Given the description of an element on the screen output the (x, y) to click on. 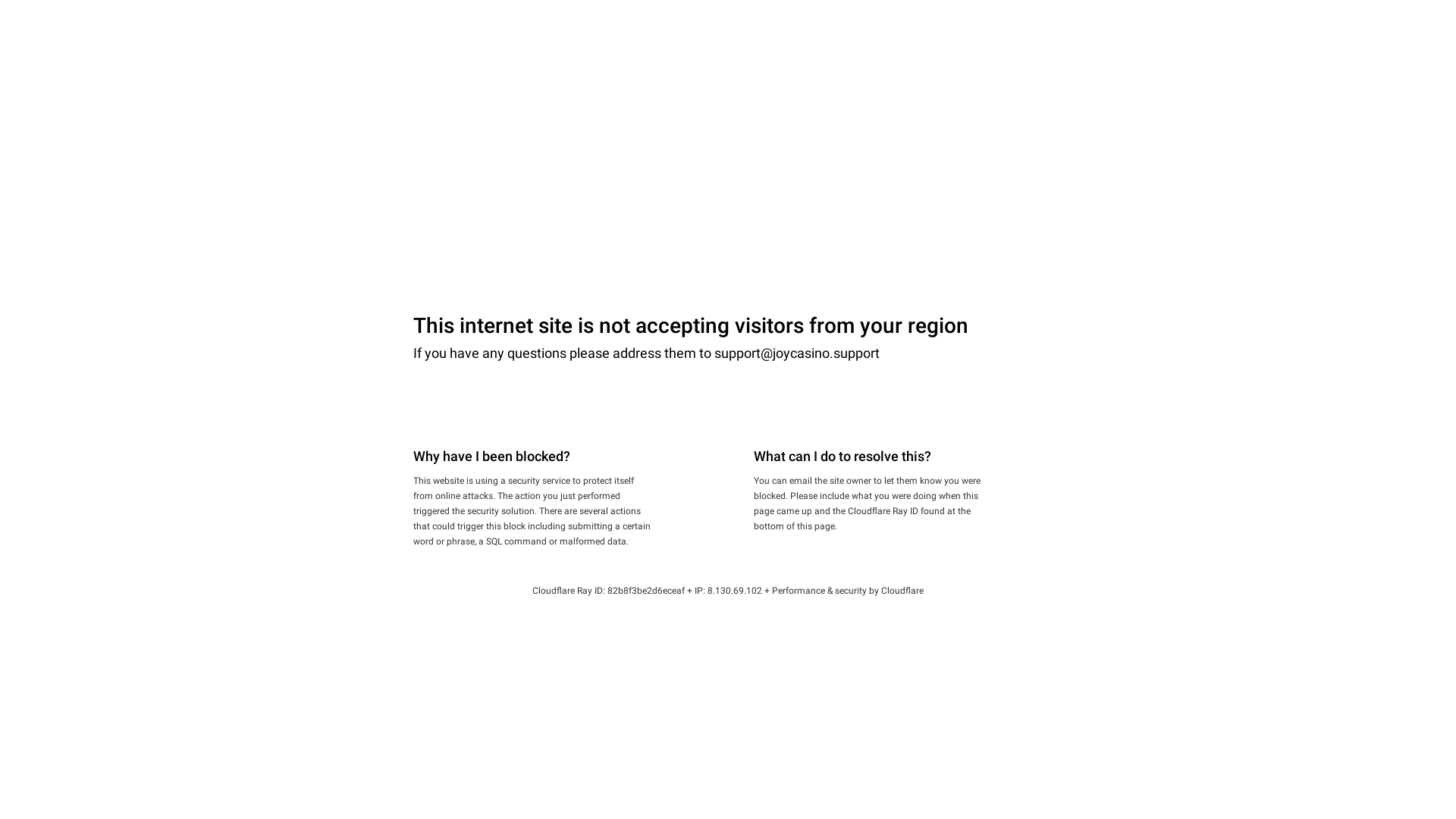
Cloudflare Element type: text (902, 590)
